Given the description of an element on the screen output the (x, y) to click on. 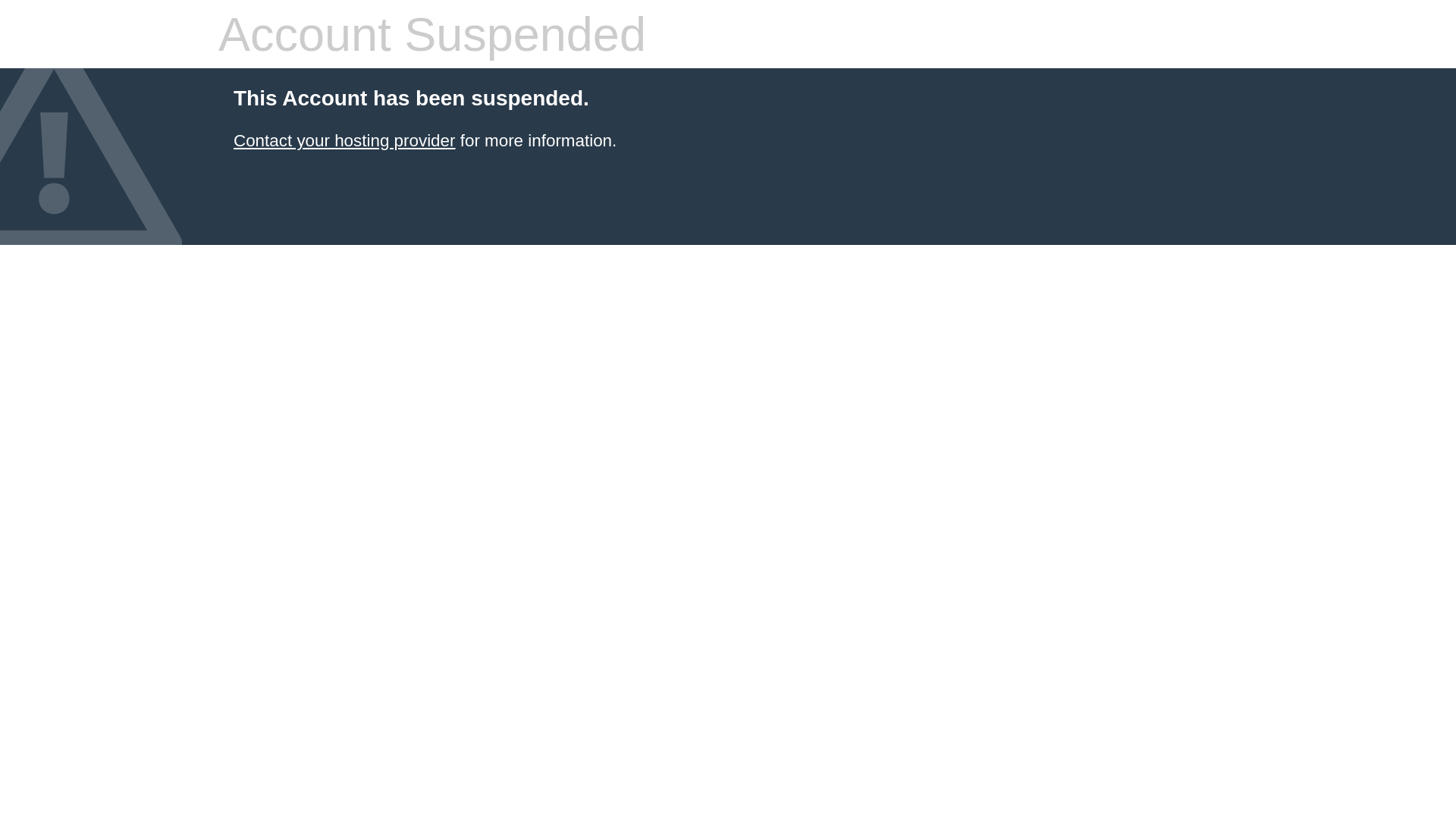
Contact your hosting provider Element type: text (344, 140)
